Given the description of an element on the screen output the (x, y) to click on. 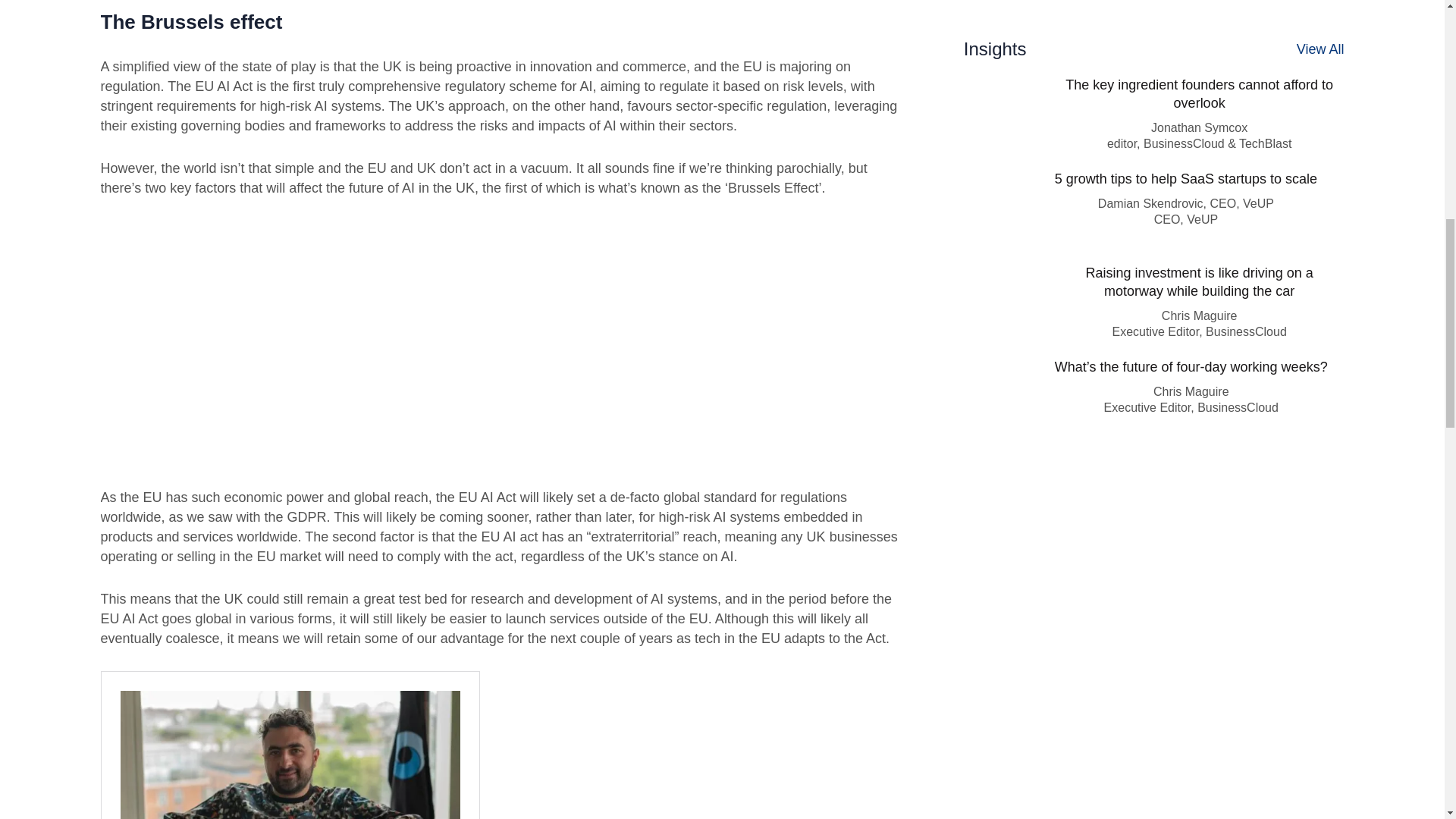
YouTube video player (312, 339)
